Given the description of an element on the screen output the (x, y) to click on. 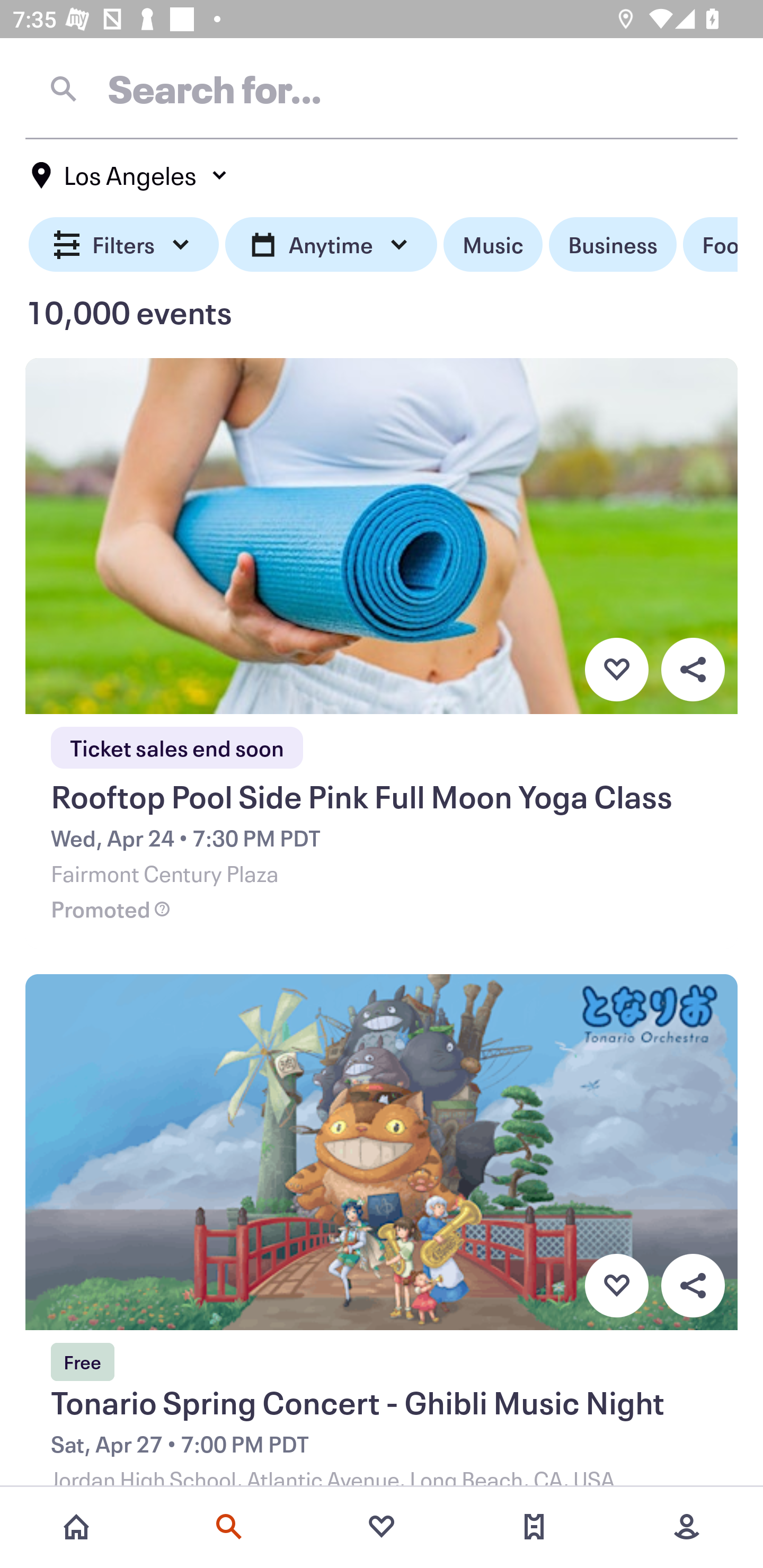
Search for… (381, 88)
Los Angeles (130, 175)
Filters (123, 244)
Anytime (331, 244)
Music (492, 244)
Business (612, 244)
Favorite button (616, 669)
Overflow menu button (692, 669)
Favorite button (616, 1285)
Overflow menu button (692, 1285)
Home (76, 1526)
Search events (228, 1526)
Favorites (381, 1526)
Tickets (533, 1526)
More (686, 1526)
